Given the description of an element on the screen output the (x, y) to click on. 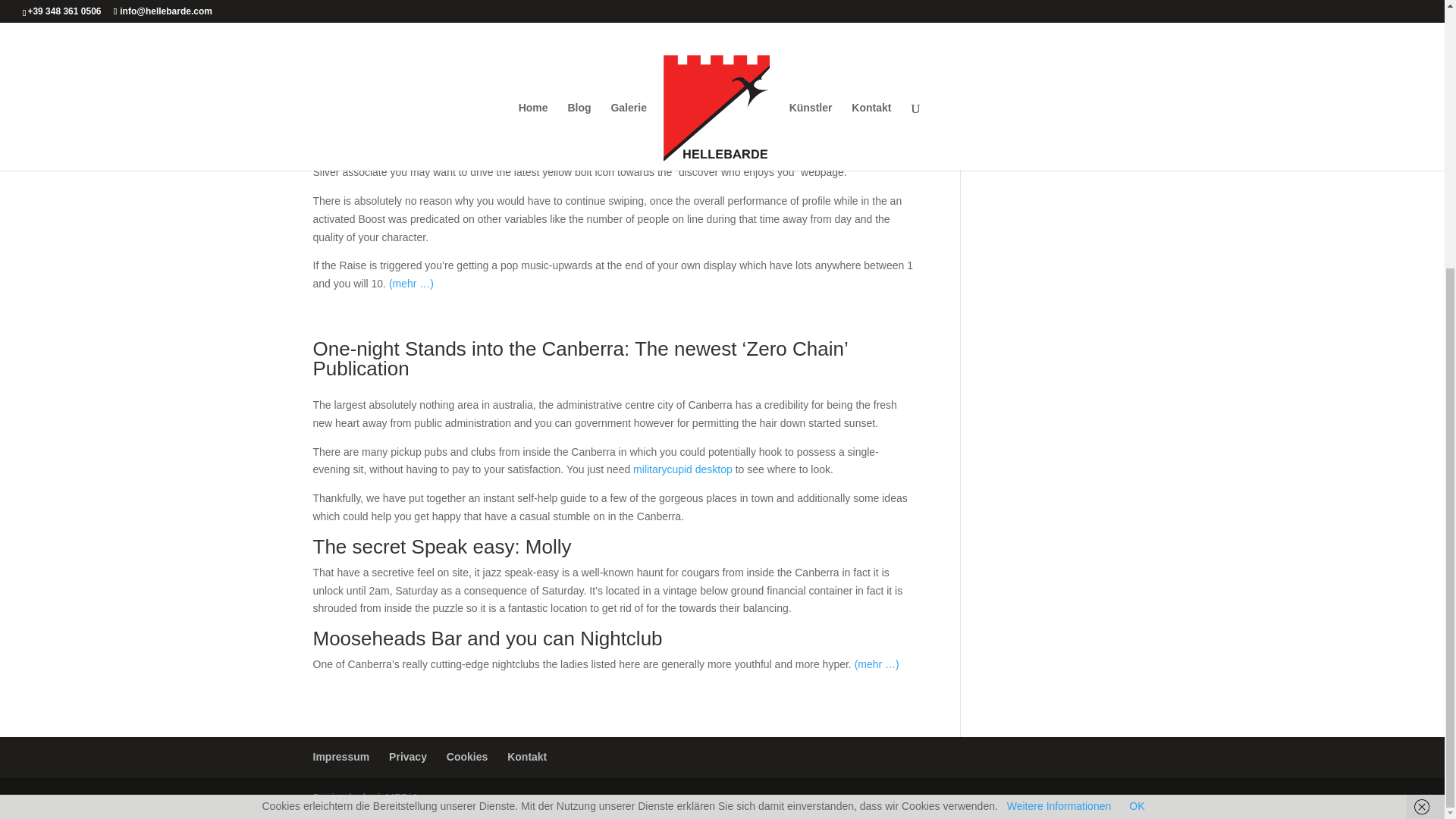
OK (1136, 416)
militarycupid desktop (682, 469)
Impressum (341, 756)
Kontakt (526, 756)
Weitere Informationen (1058, 416)
Cookies (466, 756)
Privacy (407, 756)
